Given the description of an element on the screen output the (x, y) to click on. 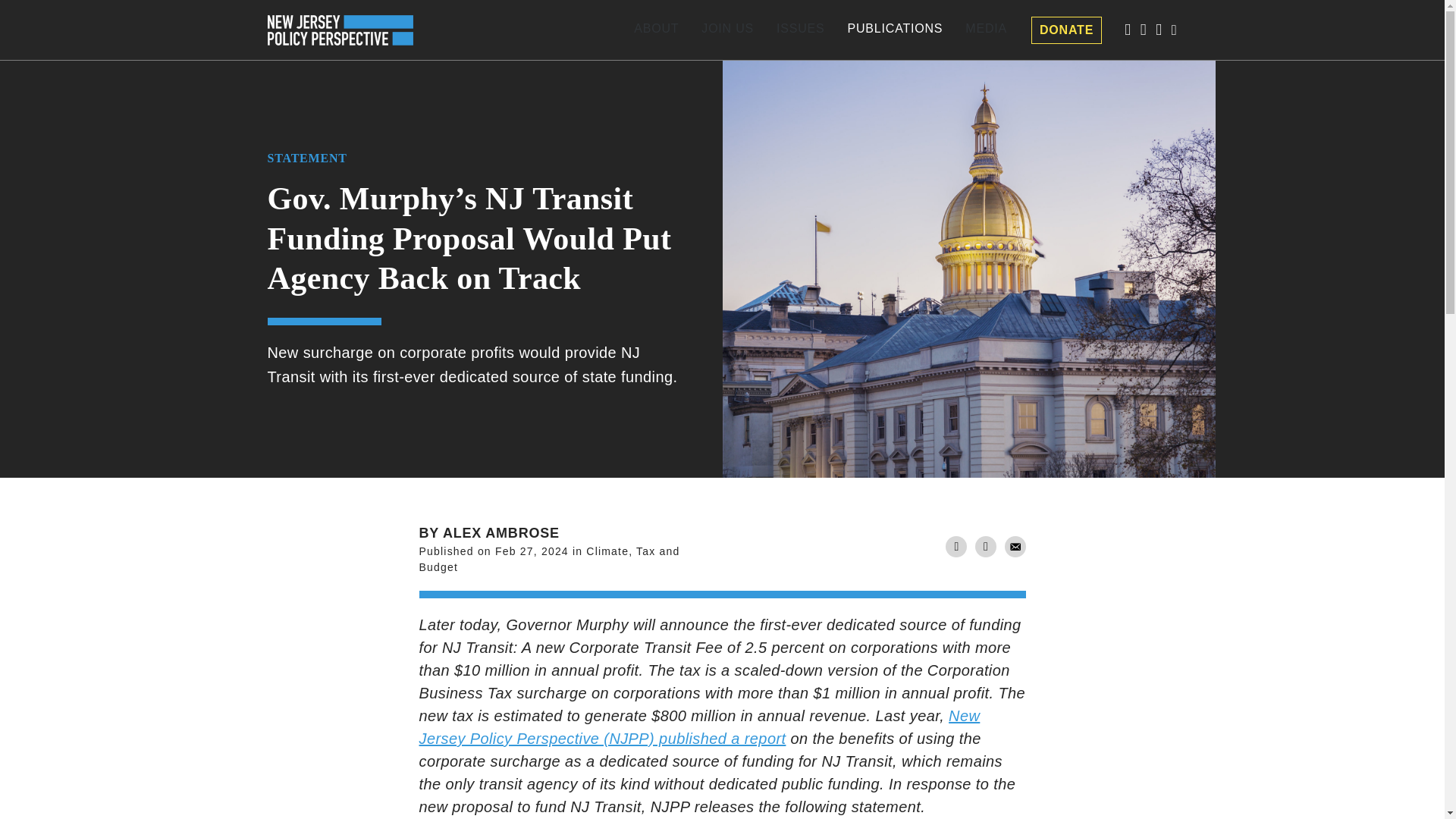
ABOUT (816, 29)
Search (656, 29)
